Given the description of an element on the screen output the (x, y) to click on. 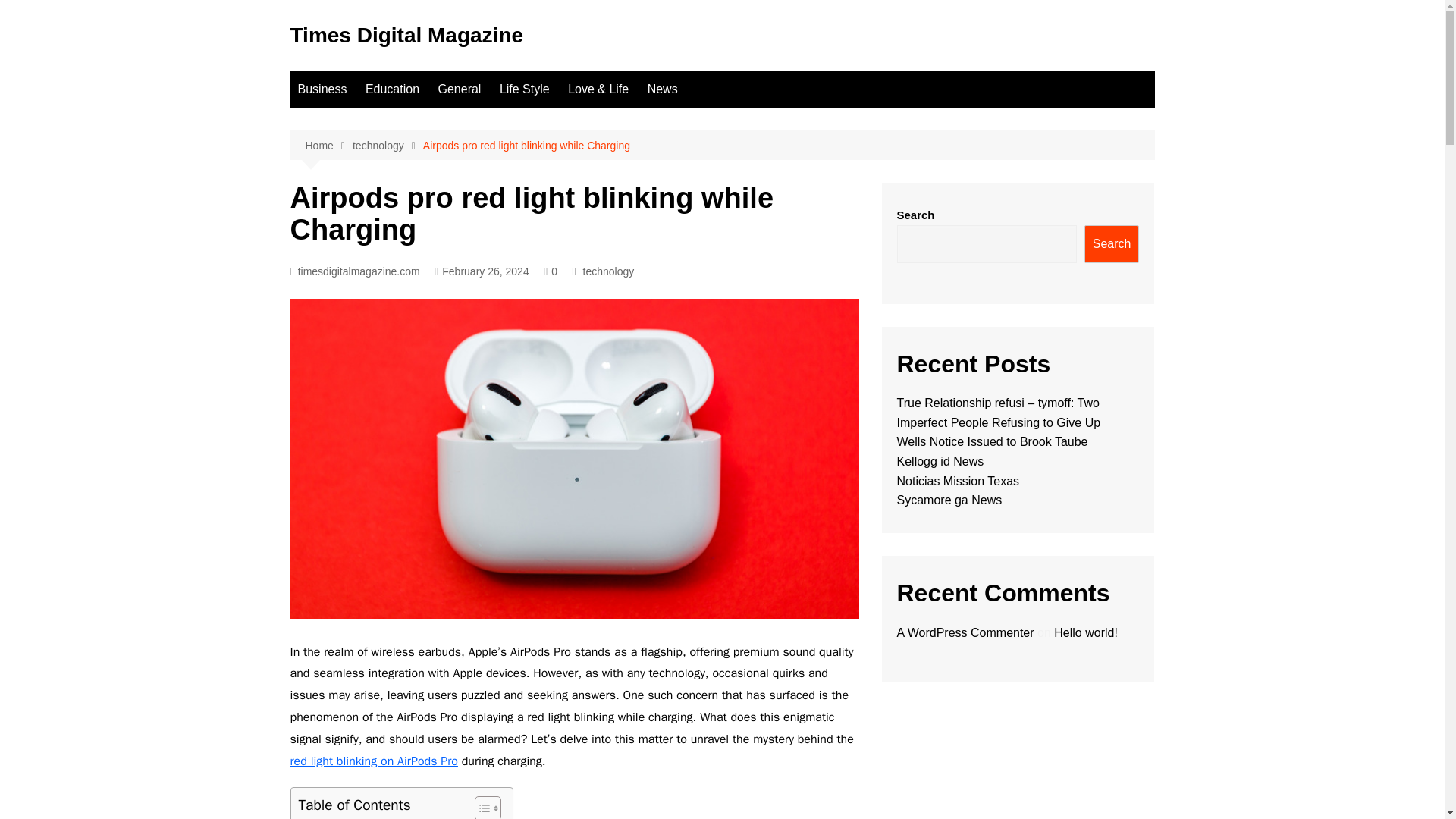
News (662, 89)
General (459, 89)
Home (328, 145)
technology (387, 145)
red light blinking on AirPods Pro (373, 761)
Life Style (524, 89)
Airpods pro red light blinking while Charging (526, 145)
Times Digital Magazine (405, 34)
Education (392, 89)
February 26, 2024 (481, 271)
Business (321, 89)
timesdigitalmagazine.com (354, 271)
technology (608, 271)
